Given the description of an element on the screen output the (x, y) to click on. 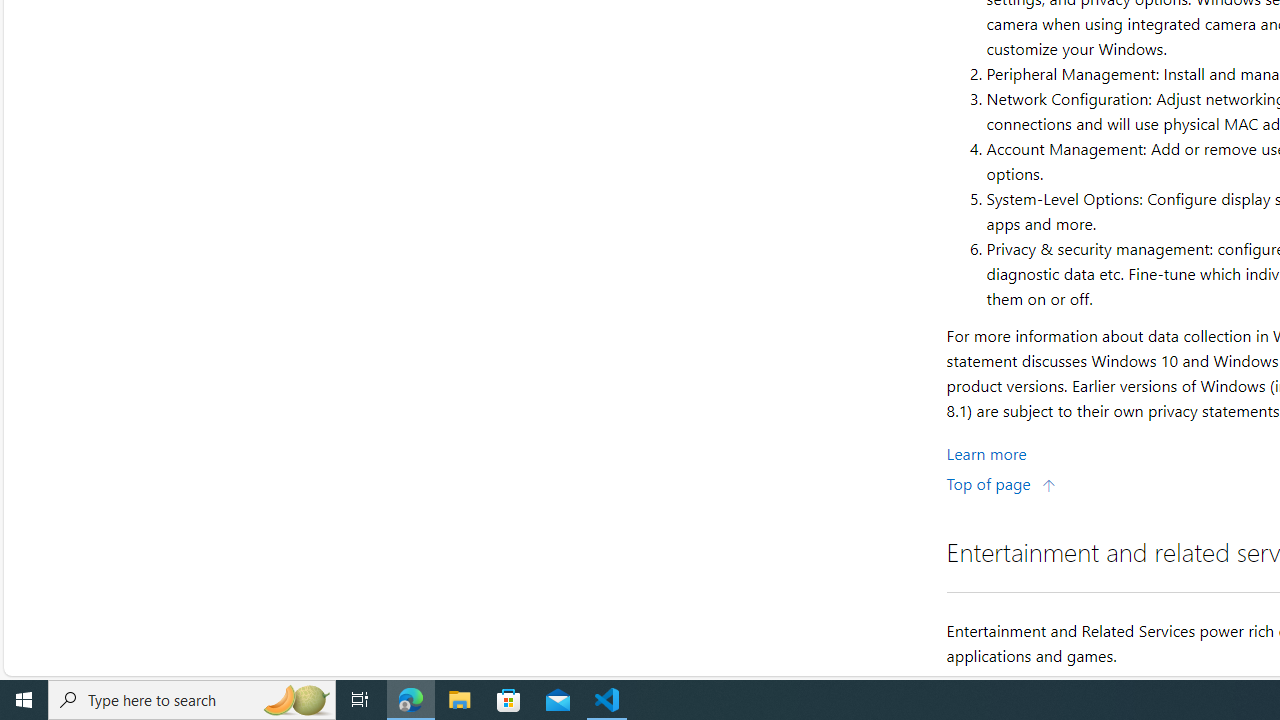
Top of page (1001, 482)
Learn More about Windows (985, 452)
